Given the description of an element on the screen output the (x, y) to click on. 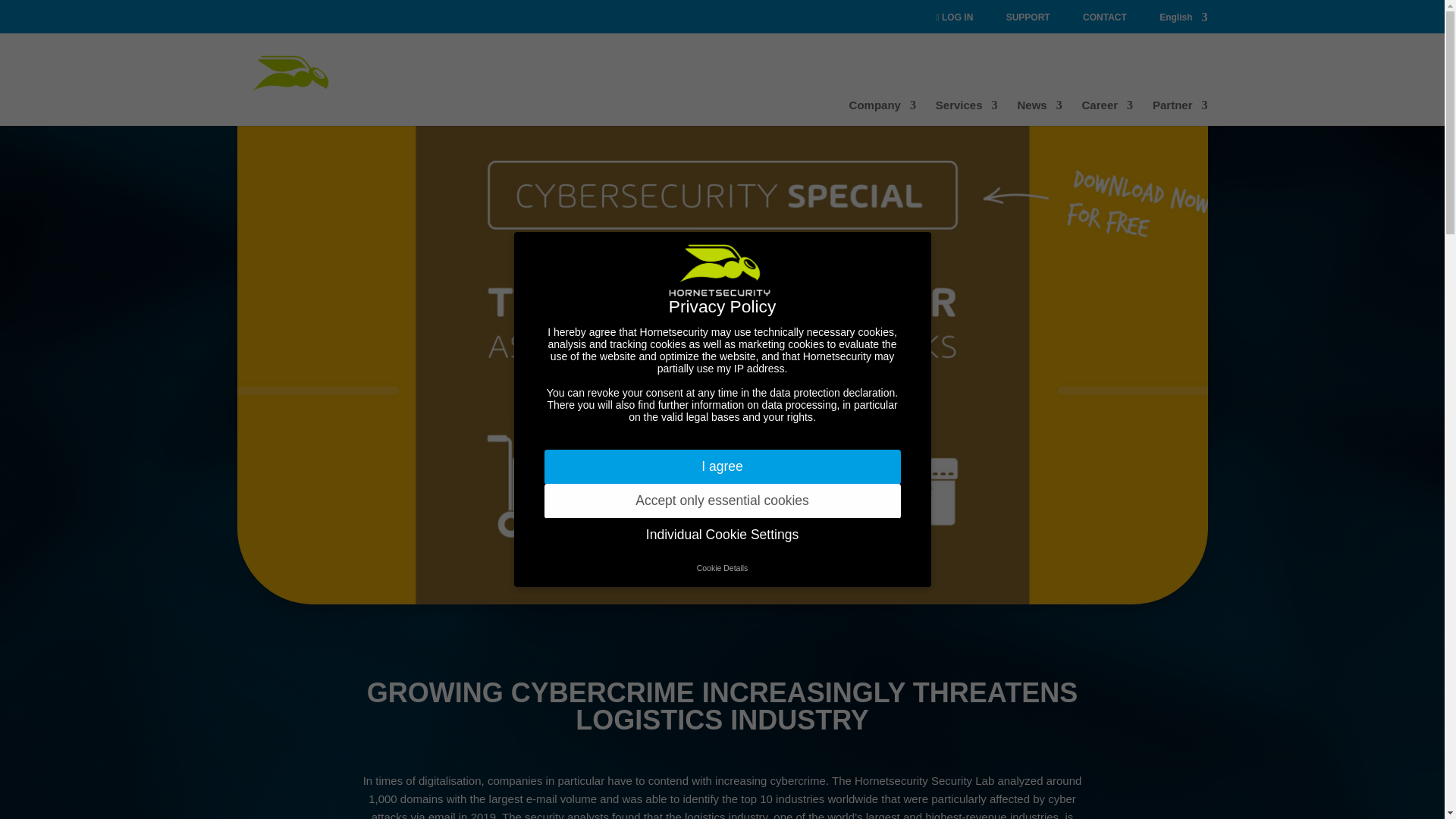
English (1182, 17)
Services (966, 112)
CONTACT (1104, 17)
SUPPORT (1027, 17)
LOG IN (954, 17)
Company (881, 112)
English (1182, 17)
News (1038, 112)
